Given the description of an element on the screen output the (x, y) to click on. 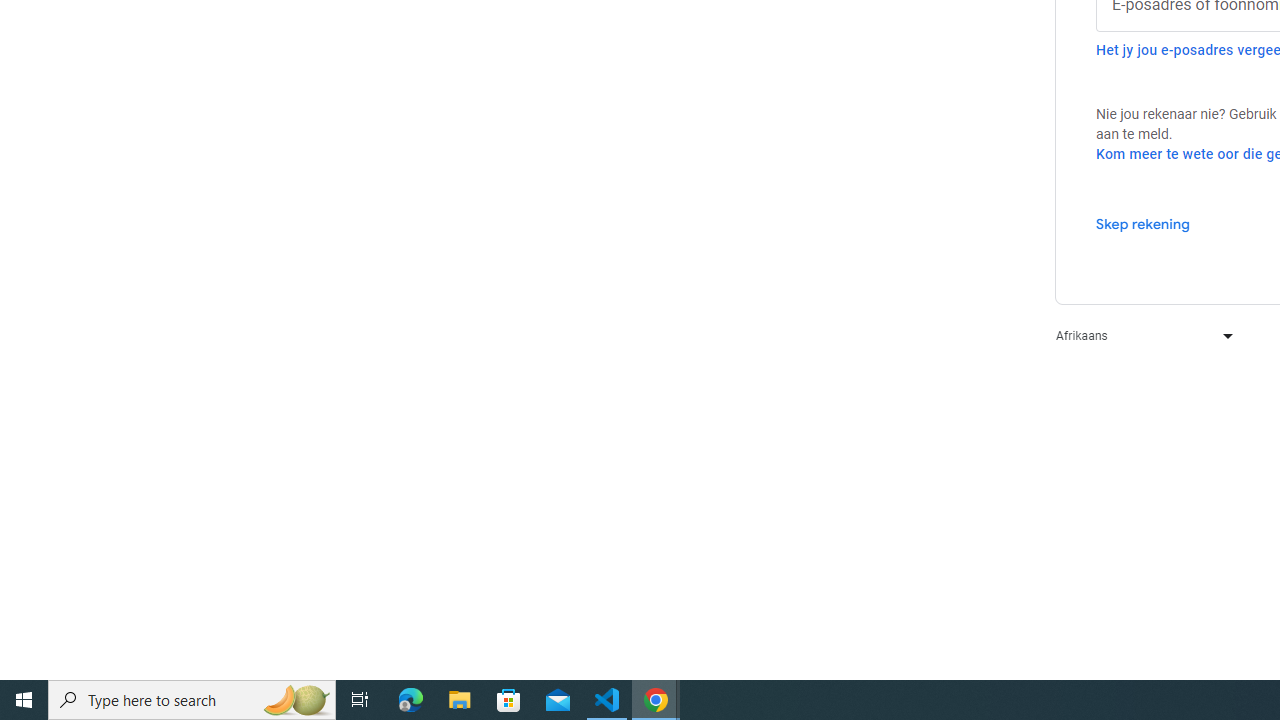
Afrikaans (1139, 335)
Skep rekening (1142, 223)
